Given the description of an element on the screen output the (x, y) to click on. 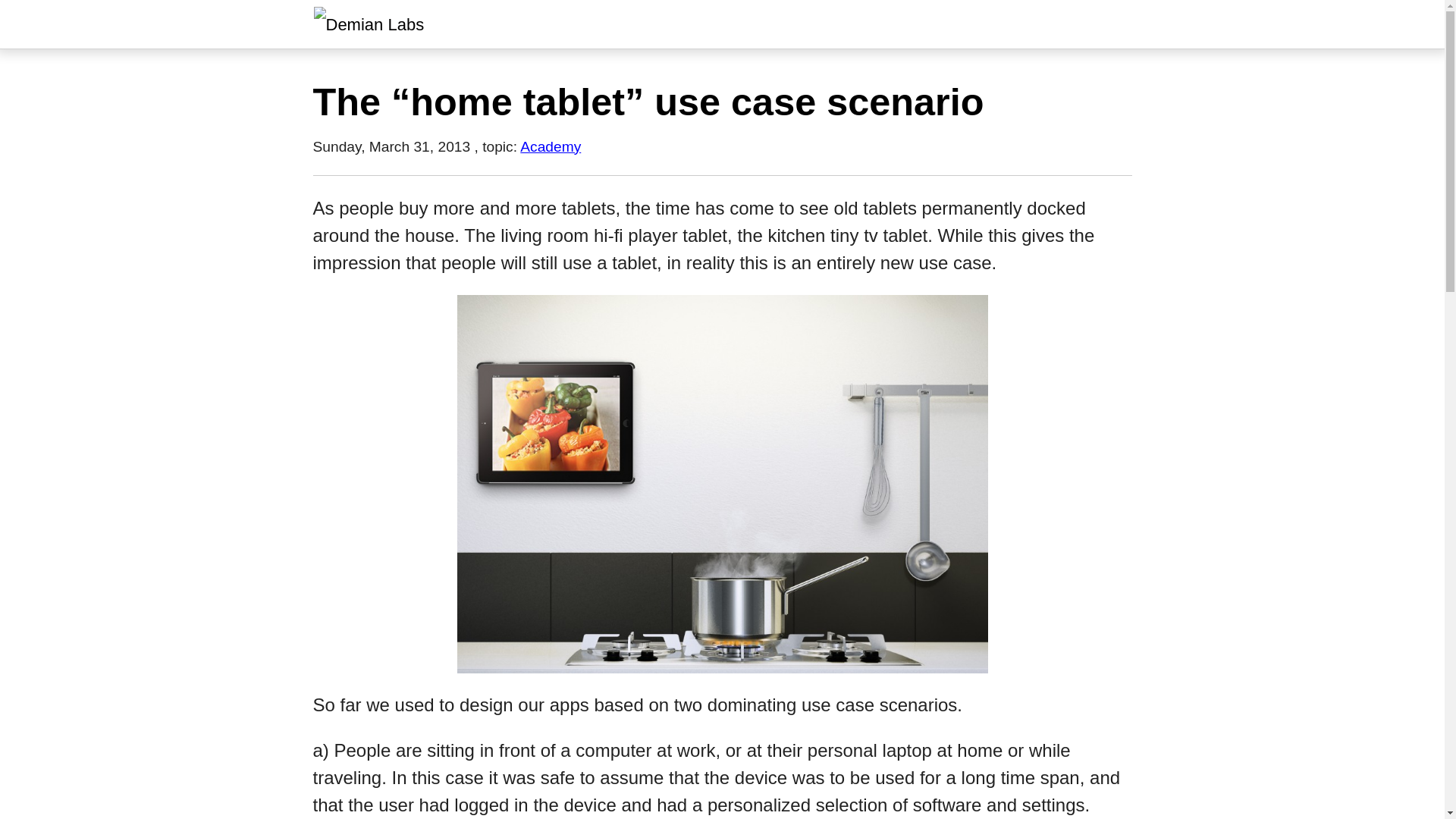
Academy (549, 146)
